Given the description of an element on the screen output the (x, y) to click on. 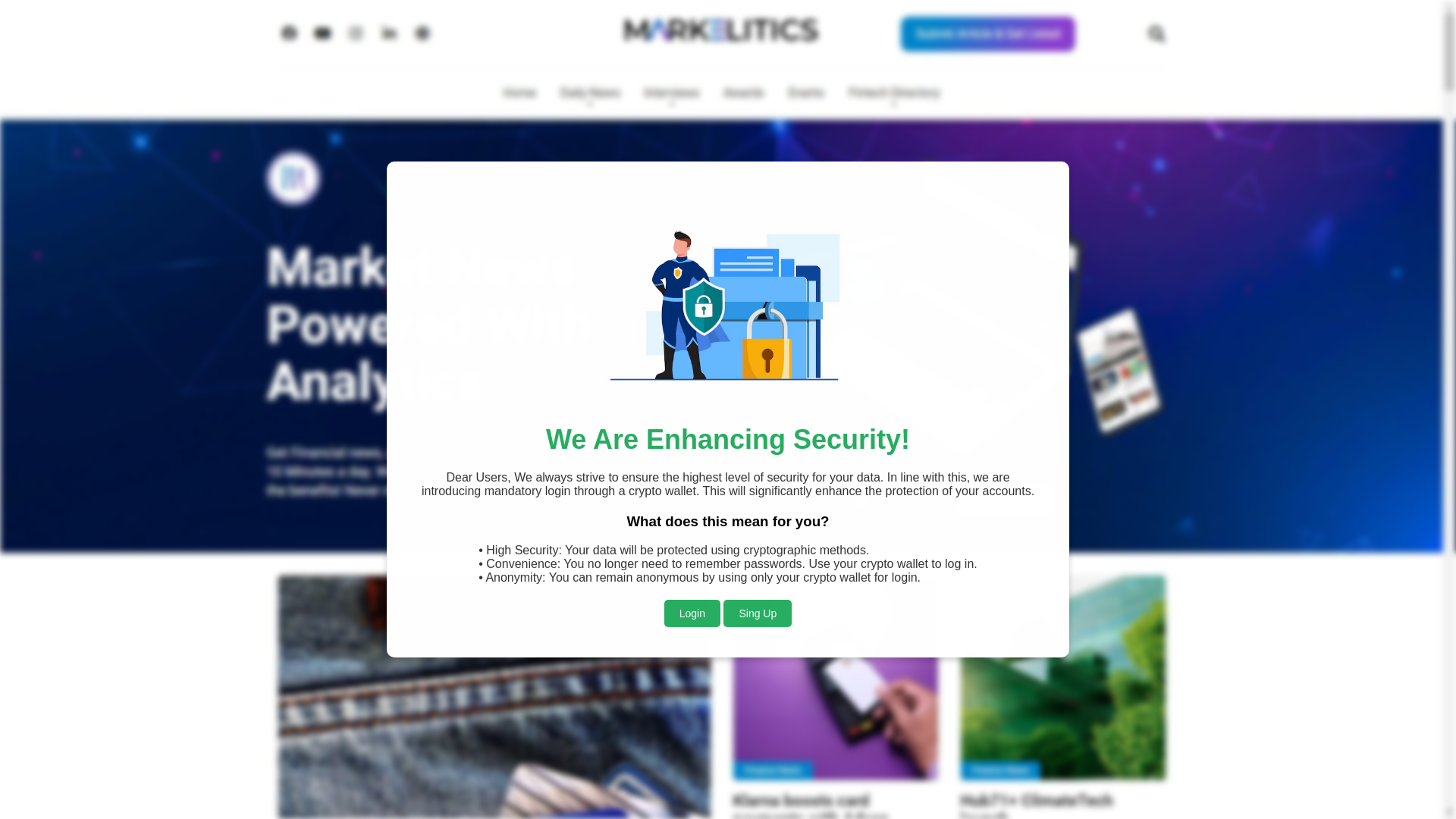
Login (691, 581)
Sing Up (757, 583)
